Given the description of an element on the screen output the (x, y) to click on. 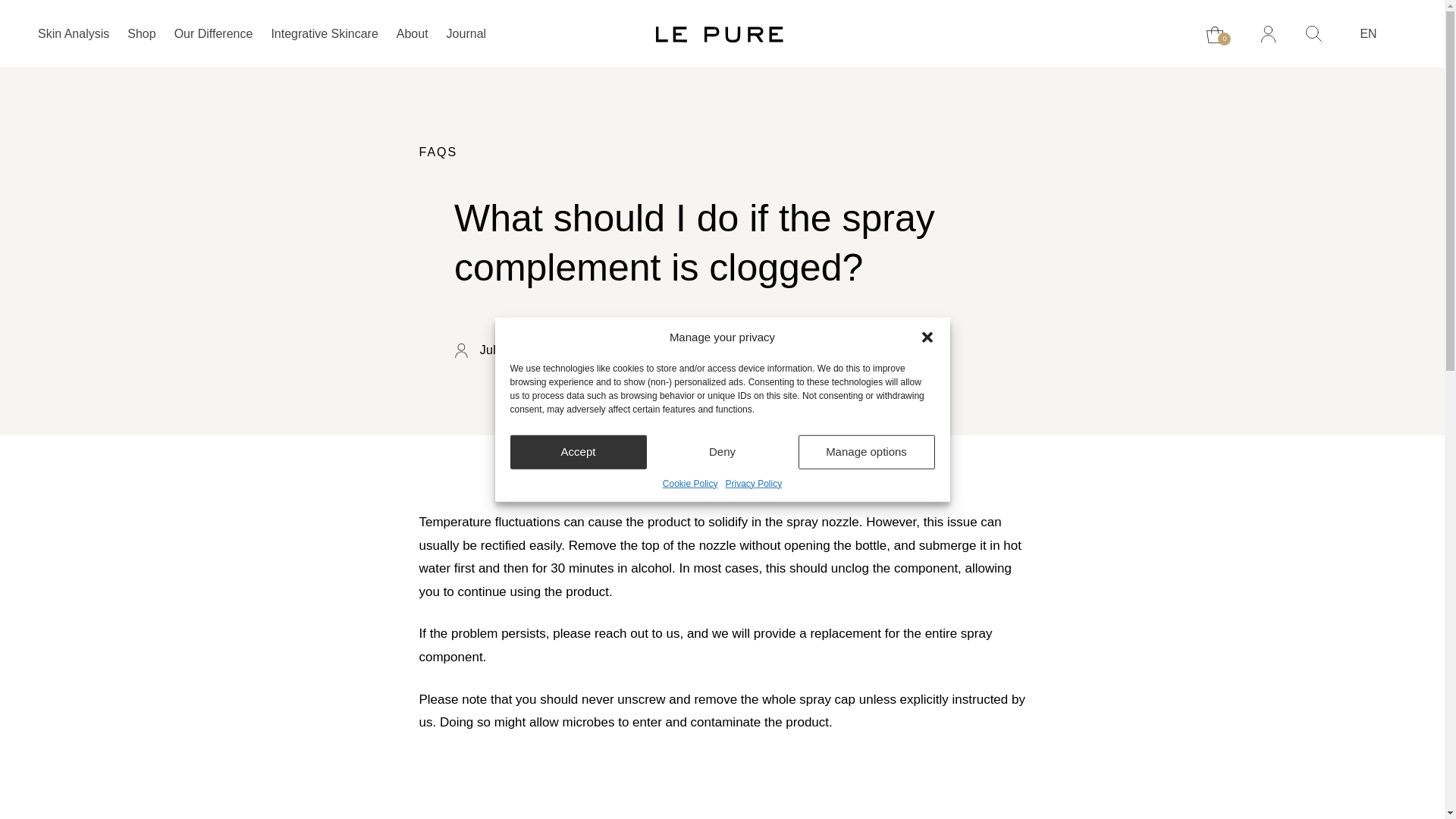
EN (1376, 33)
Our Difference (213, 34)
0 (1218, 34)
Deny (721, 451)
Privacy Policy (753, 482)
About (412, 34)
Cookie Policy (689, 482)
Integrative Skincare (323, 34)
FAQS (438, 151)
View your shopping cart (1218, 34)
Skin Analysis (73, 34)
Manage options (865, 451)
Accept (577, 451)
Shop (141, 34)
Journal (466, 34)
